Given the description of an element on the screen output the (x, y) to click on. 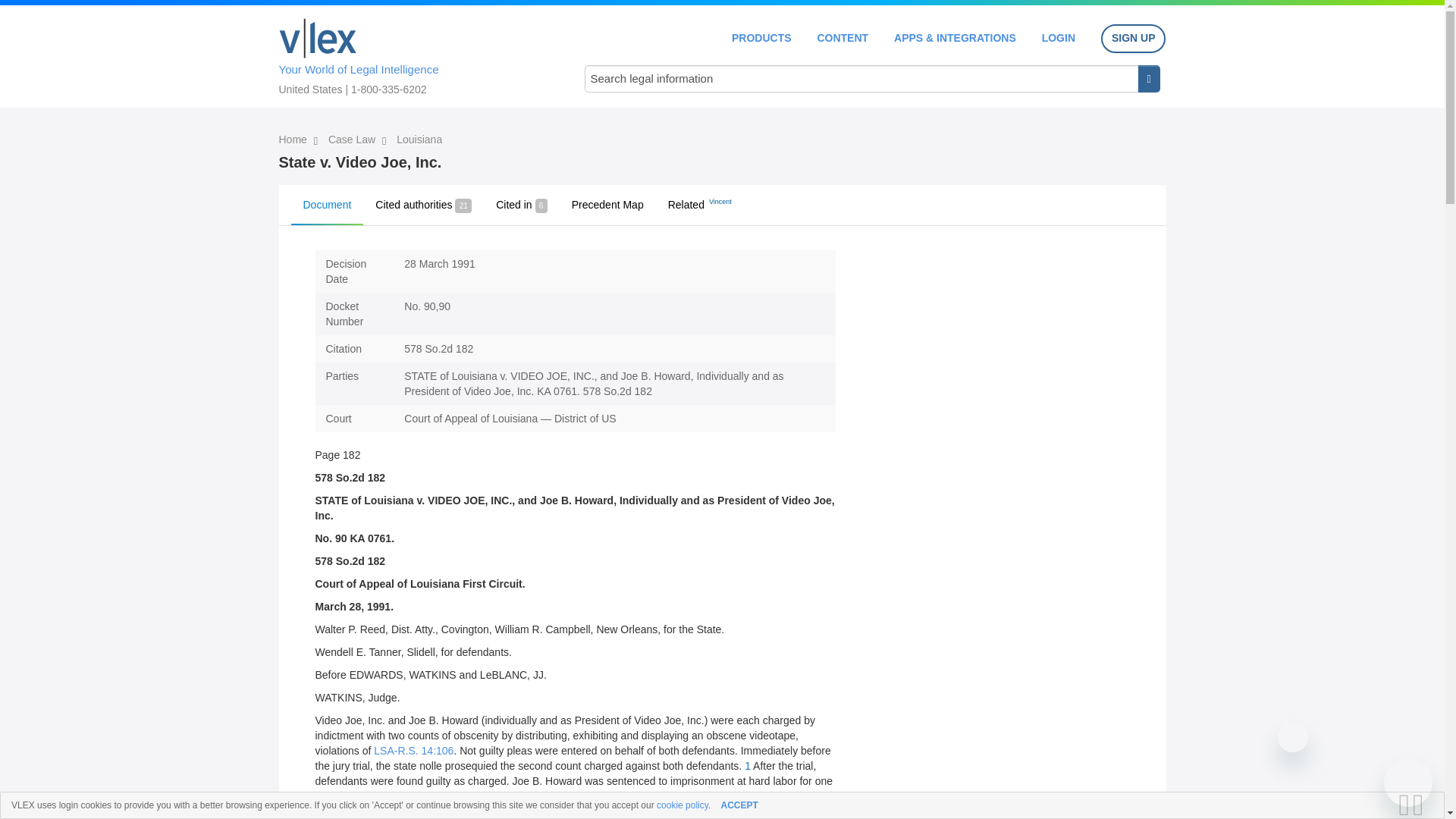
PRODUCTS (762, 37)
Home (294, 139)
LSA-R.S. 14:106 (413, 750)
Case Law (353, 139)
Home (317, 38)
Louisiana (419, 139)
LOGIN (1058, 37)
CONTENT (841, 37)
SIGN UP (1133, 38)
Your World of Legal Intelligence (416, 53)
